Given the description of an element on the screen output the (x, y) to click on. 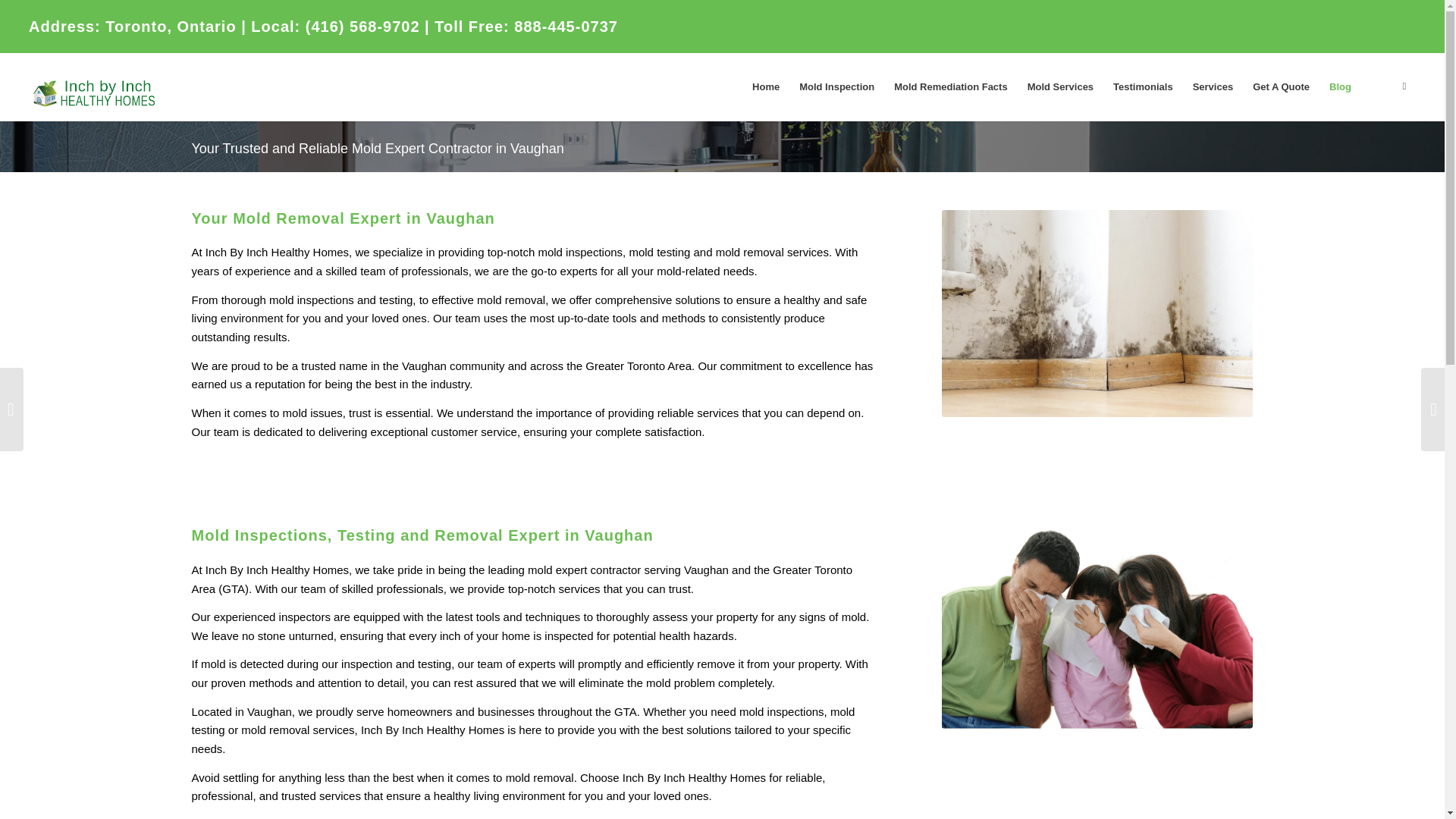
Mold Remediation Facts (950, 87)
Testimonials (1142, 87)
Mold Services (1060, 87)
1 (1097, 313)
13 (1097, 627)
Facebook (1404, 86)
gtalogo-1 (103, 87)
Get A Quote (1281, 87)
Mold Inspection (836, 87)
